Given the description of an element on the screen output the (x, y) to click on. 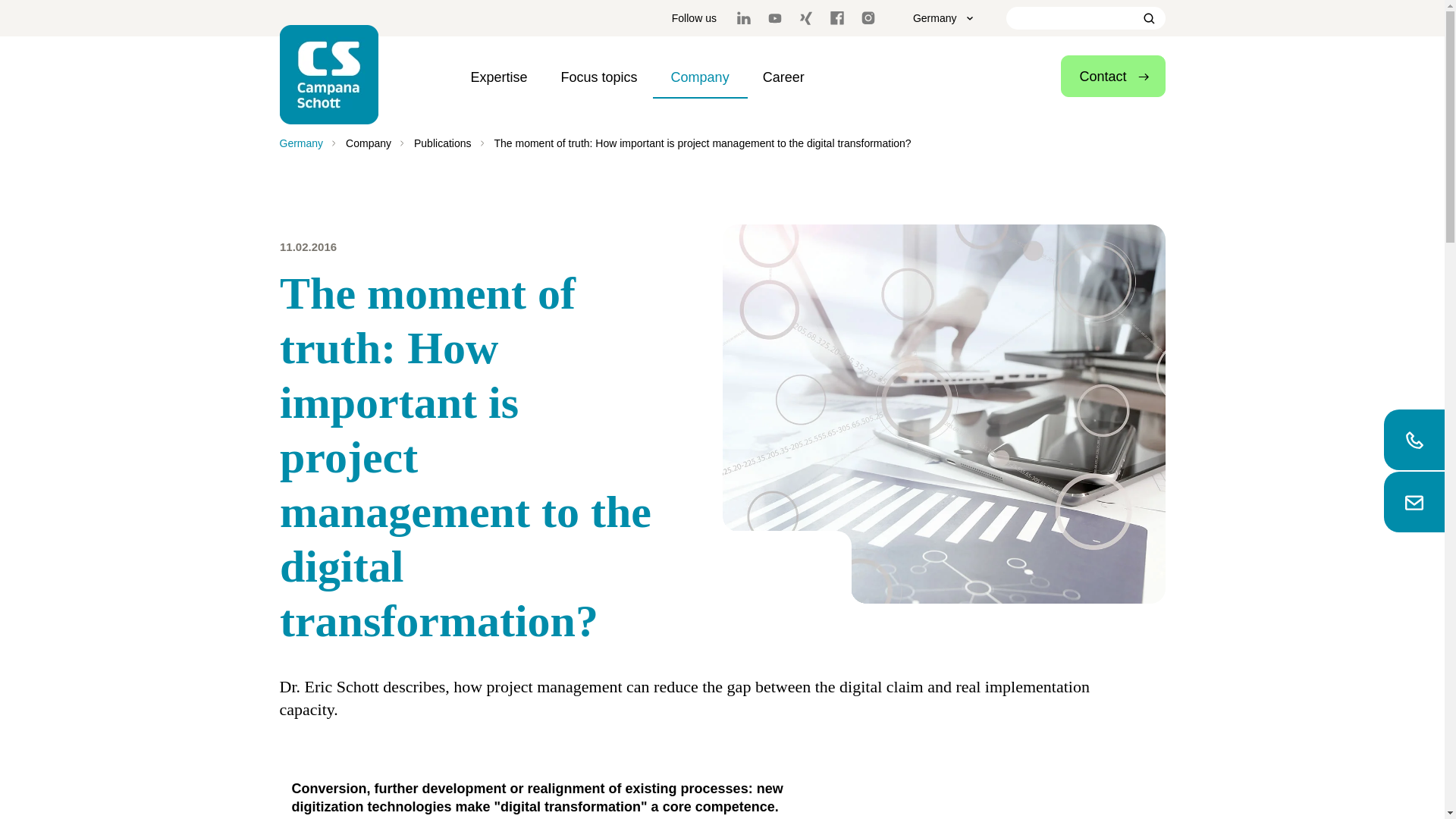
To main page (328, 74)
Expertise (498, 76)
Expertise (498, 76)
